Given the description of an element on the screen output the (x, y) to click on. 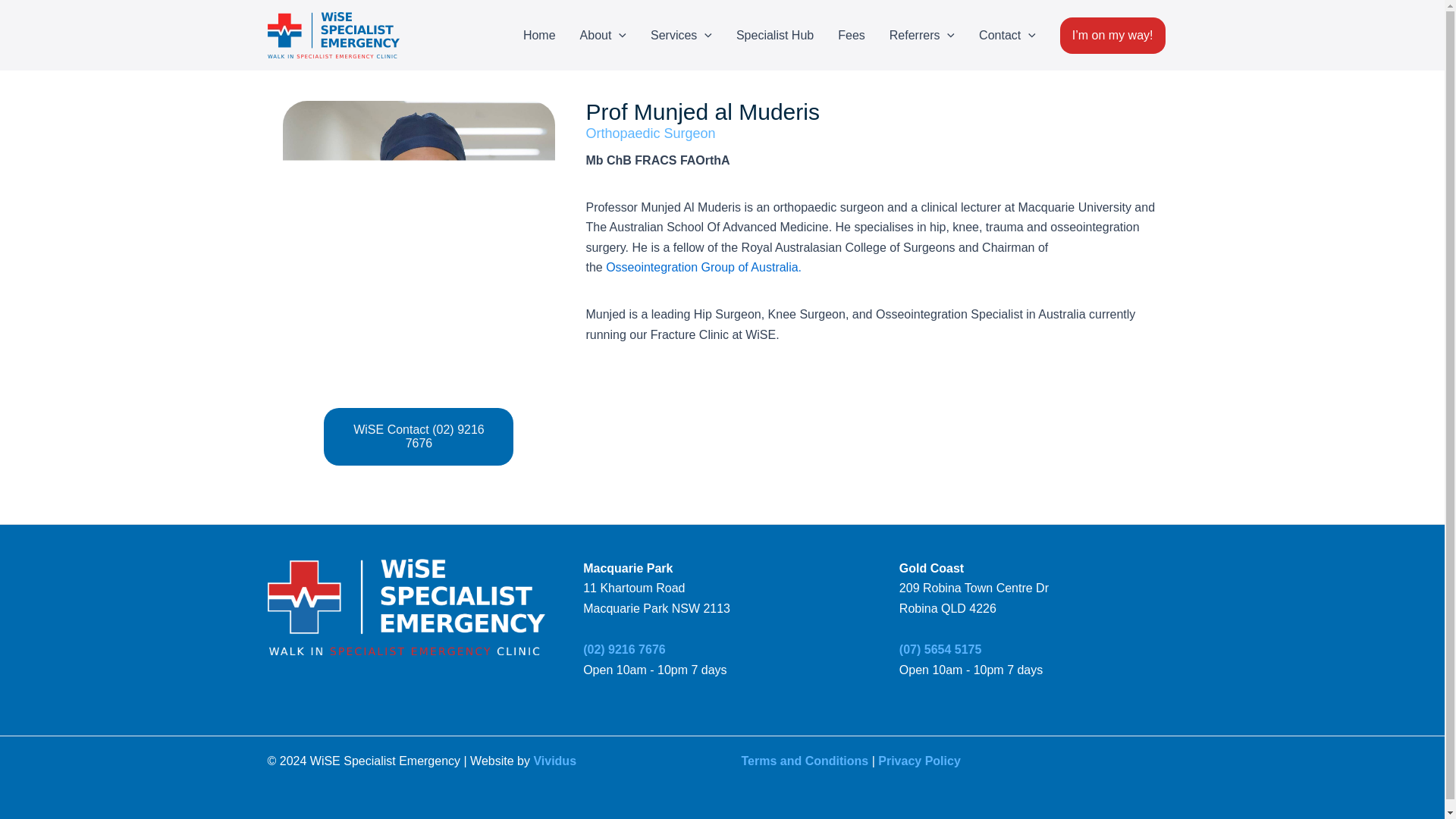
Contact (1007, 34)
Referrers (921, 34)
Prof Munjed al Muderis (418, 236)
About (603, 34)
Specialist Hub (774, 34)
Services (681, 34)
Home (539, 34)
